Given the description of an element on the screen output the (x, y) to click on. 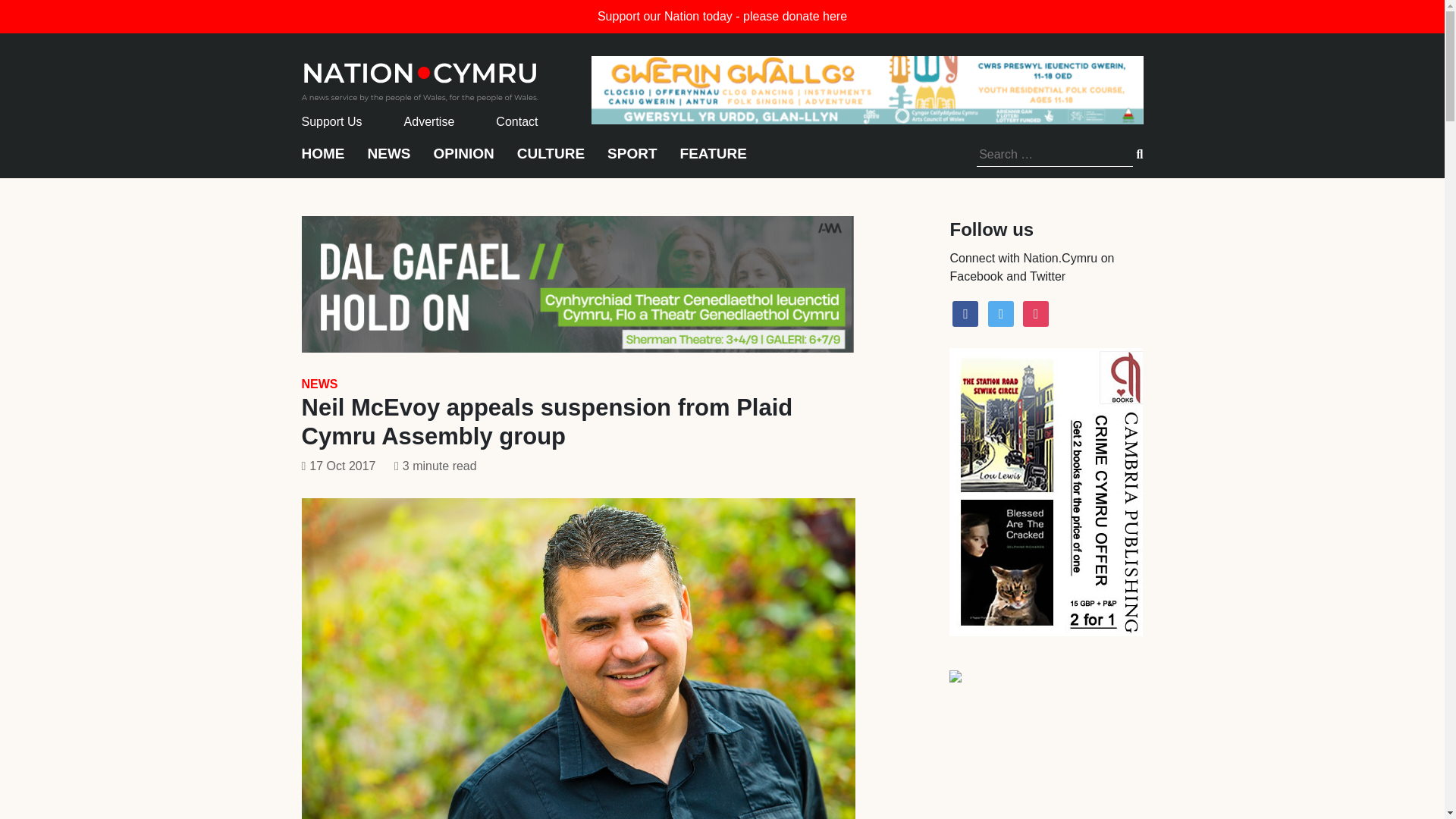
NEWS (319, 383)
SPORT (631, 160)
FEATURE (712, 160)
Contact (516, 121)
Advertise (429, 121)
OPINION (464, 160)
HOME (323, 160)
NEWS (388, 160)
home (419, 77)
Support Us (331, 121)
